Given the description of an element on the screen output the (x, y) to click on. 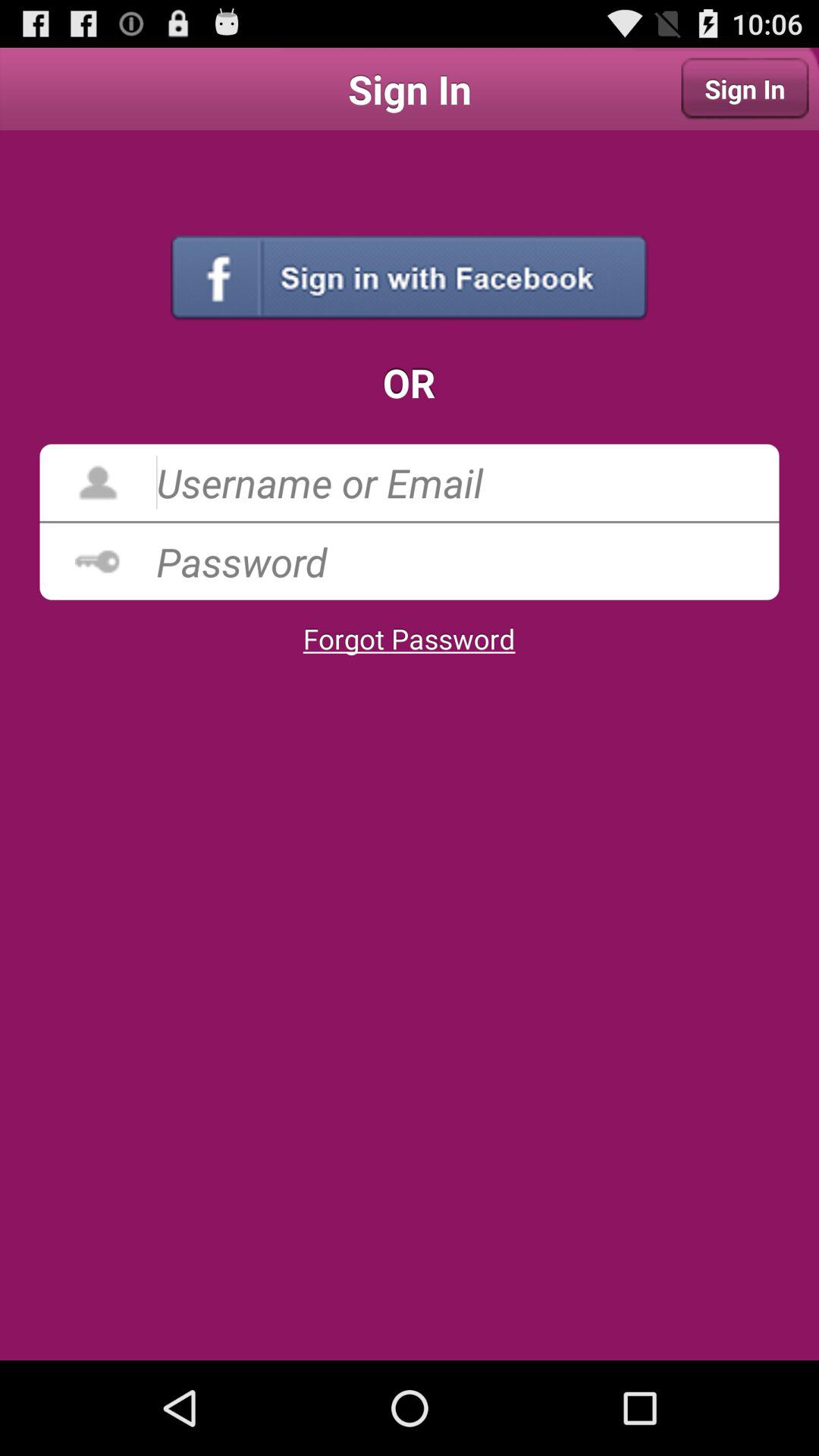
scroll until forgot password icon (409, 638)
